Given the description of an element on the screen output the (x, y) to click on. 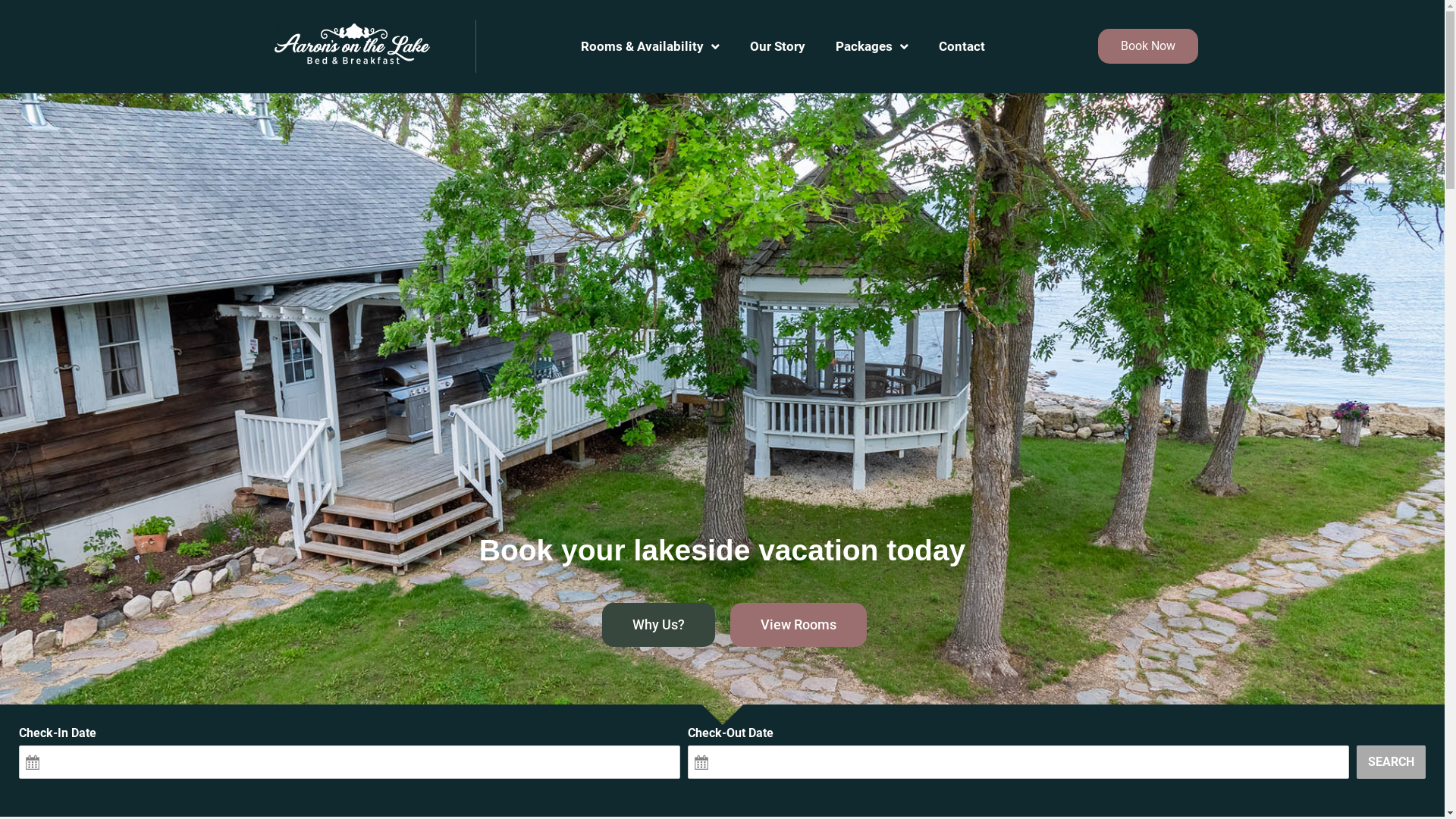
SEARCH Element type: text (1390, 761)
Our Story Element type: text (777, 45)
Book Now Element type: text (1148, 45)
Why Us? Element type: text (658, 624)
Rooms & Availability Element type: text (649, 45)
View Rooms Element type: text (797, 624)
Packages Element type: text (871, 45)
Aarons-on-the-Lake-white Element type: hover (351, 46)
Contact Element type: text (961, 45)
